Given the description of an element on the screen output the (x, y) to click on. 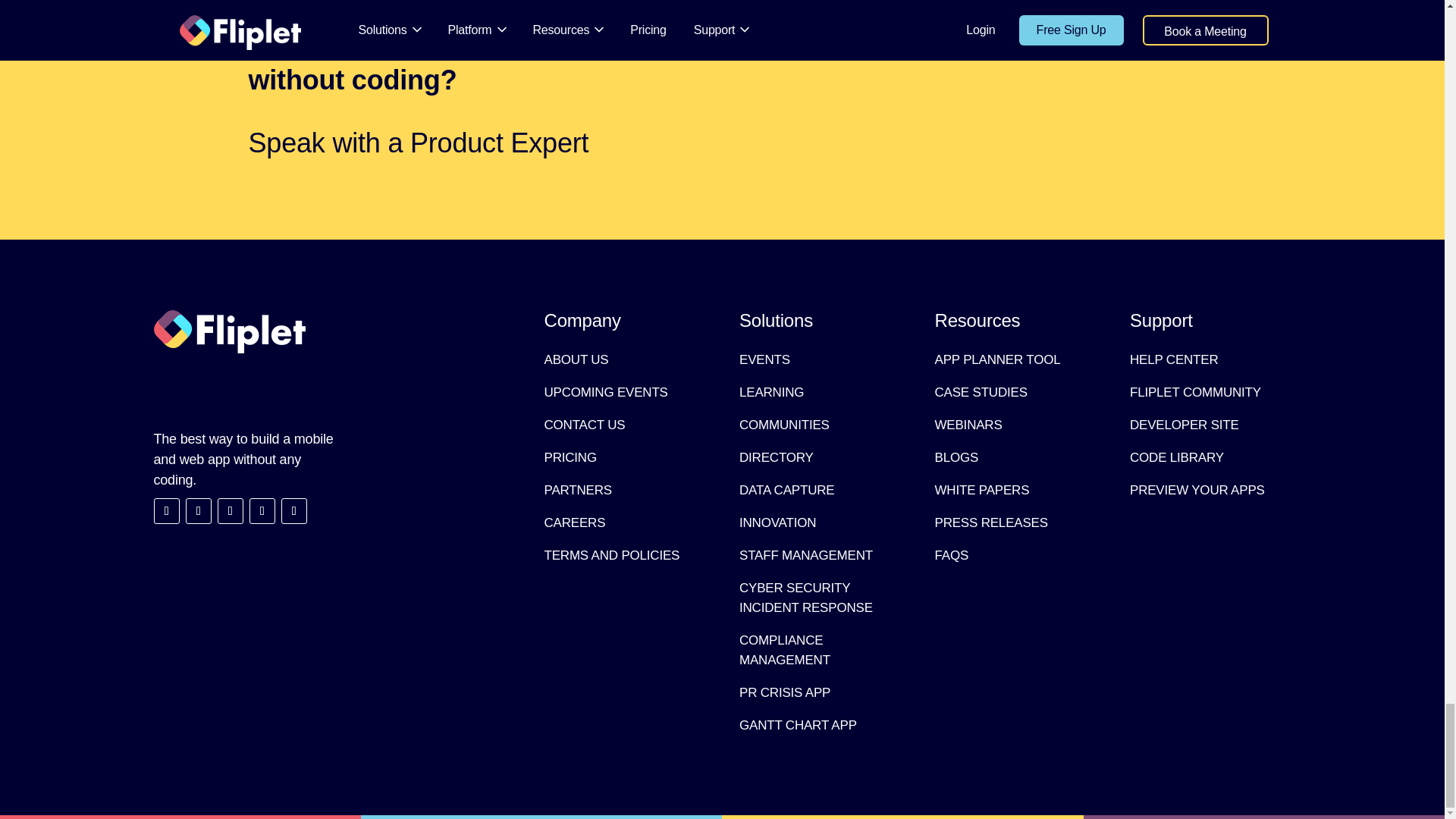
fliplet-logo (228, 331)
Follow on Facebook (261, 510)
Follow on Twitter (165, 510)
Follow on LinkedIn (197, 510)
Follow on Youtube (229, 510)
Follow on Instagram (293, 510)
